Given the description of an element on the screen output the (x, y) to click on. 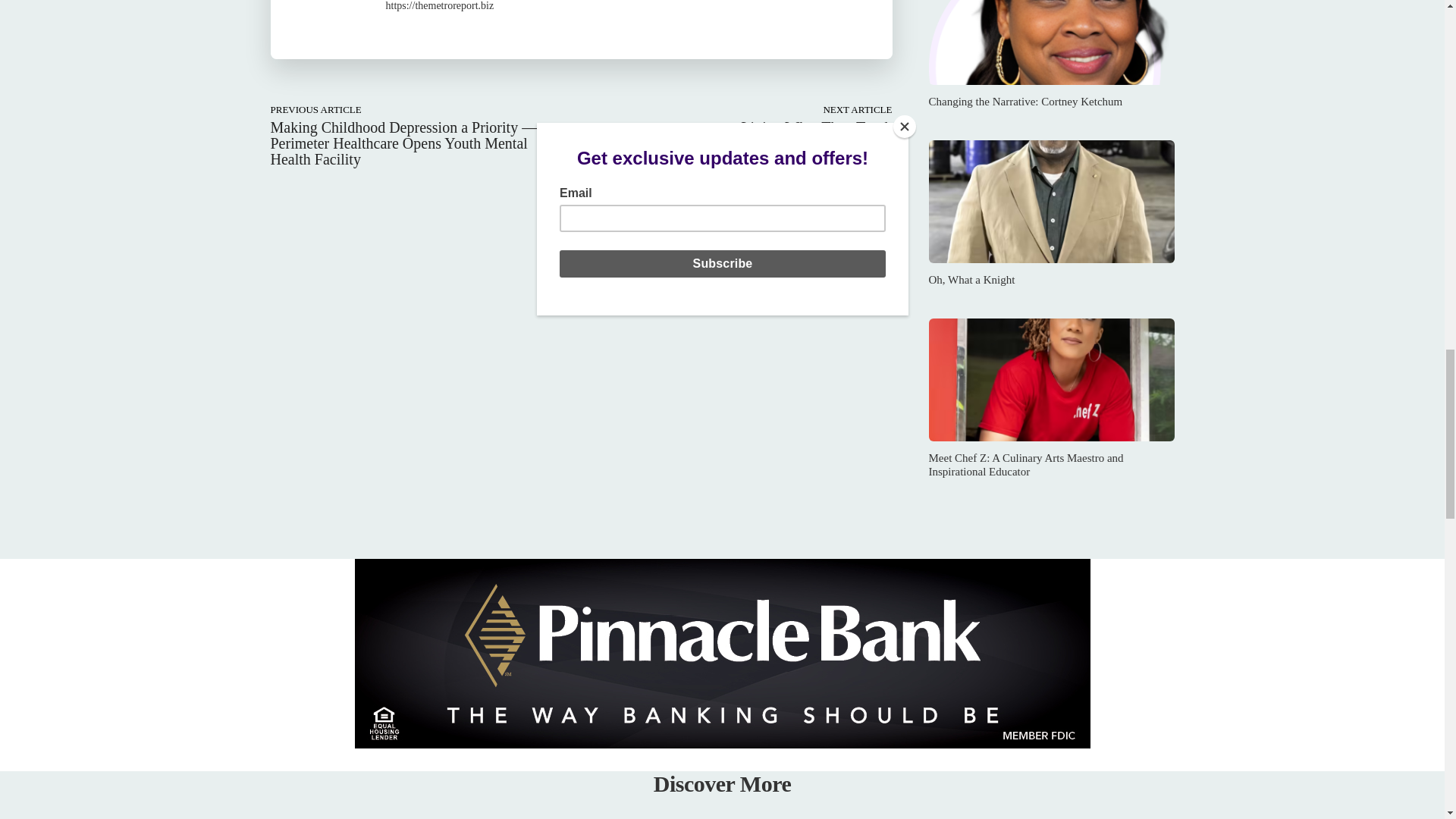
Changing the Narrative: Cortney Ketchum (1025, 101)
Oh, What a Knight (971, 279)
Changing the Narrative: Cortney Ketchum (1050, 42)
admin (327, 21)
Oh, What a Knight (1050, 201)
